Given the description of an element on the screen output the (x, y) to click on. 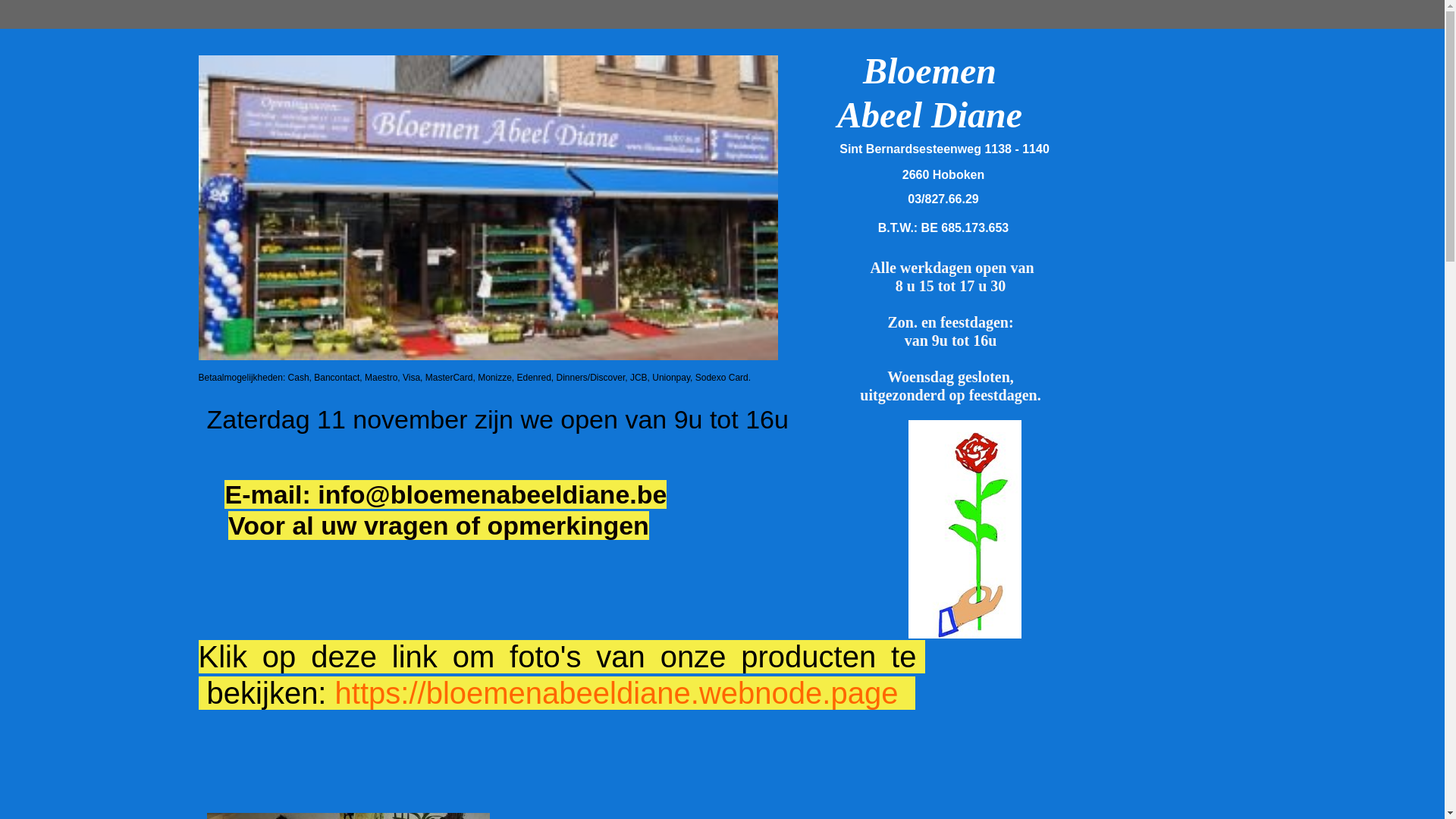
E-mail: info@bloemenabeeldiane.be Element type: text (445, 494)
https://bloemenabeeldiane.webnode.page  Element type: text (620, 692)
